Given the description of an element on the screen output the (x, y) to click on. 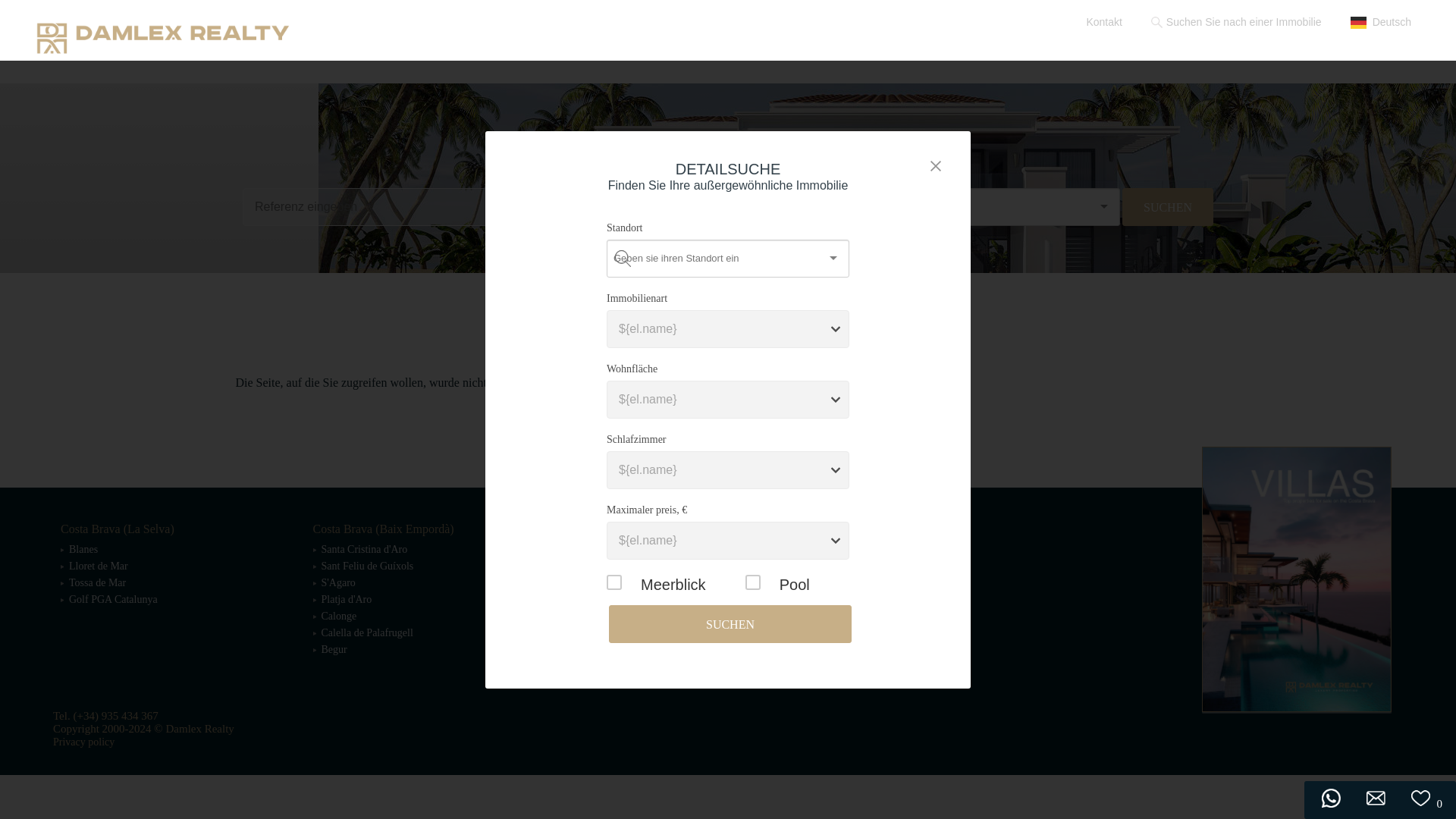
Suchen Sie nach einer Immobilie (1236, 22)
S'Agaro (338, 582)
  Deutsch (1380, 22)
DETAILSUCHE (794, 241)
Neubau (1389, 56)
Platja d'Aro (346, 599)
STANDORT (943, 241)
REFERENZ (872, 241)
SUCHEN (682, 207)
Kontakt (1103, 21)
